Given the description of an element on the screen output the (x, y) to click on. 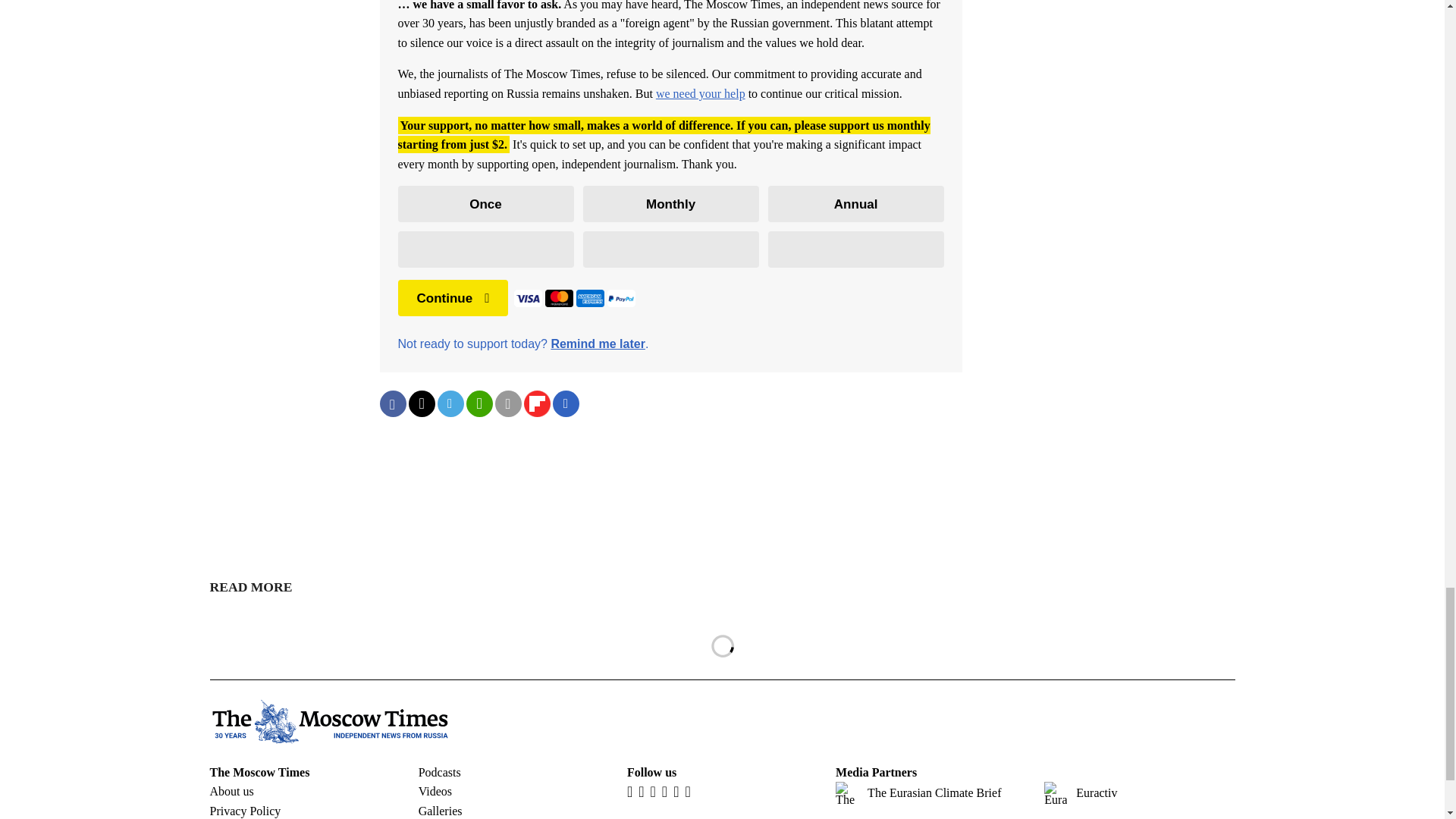
Share on Twitter (420, 403)
Download as PDF (565, 403)
Share on Telegram (449, 403)
Share on WhatsApp (478, 403)
Share on Facebook (392, 403)
we need your help (700, 92)
Share with email (508, 403)
Share on Flipboard (536, 403)
